Given the description of an element on the screen output the (x, y) to click on. 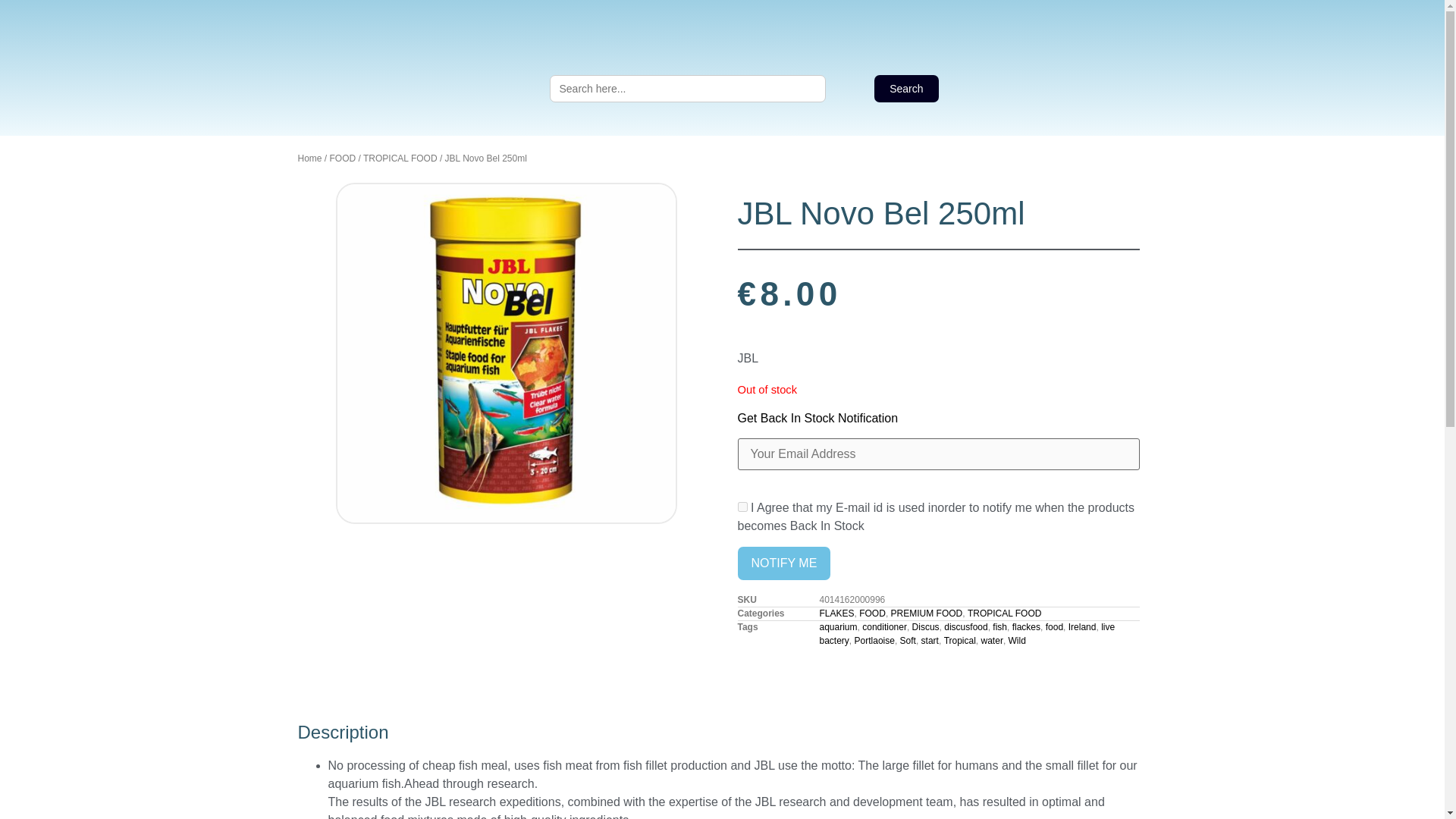
NOTIFY ME (782, 563)
Search (906, 88)
on (741, 506)
Search (906, 88)
